Given the description of an element on the screen output the (x, y) to click on. 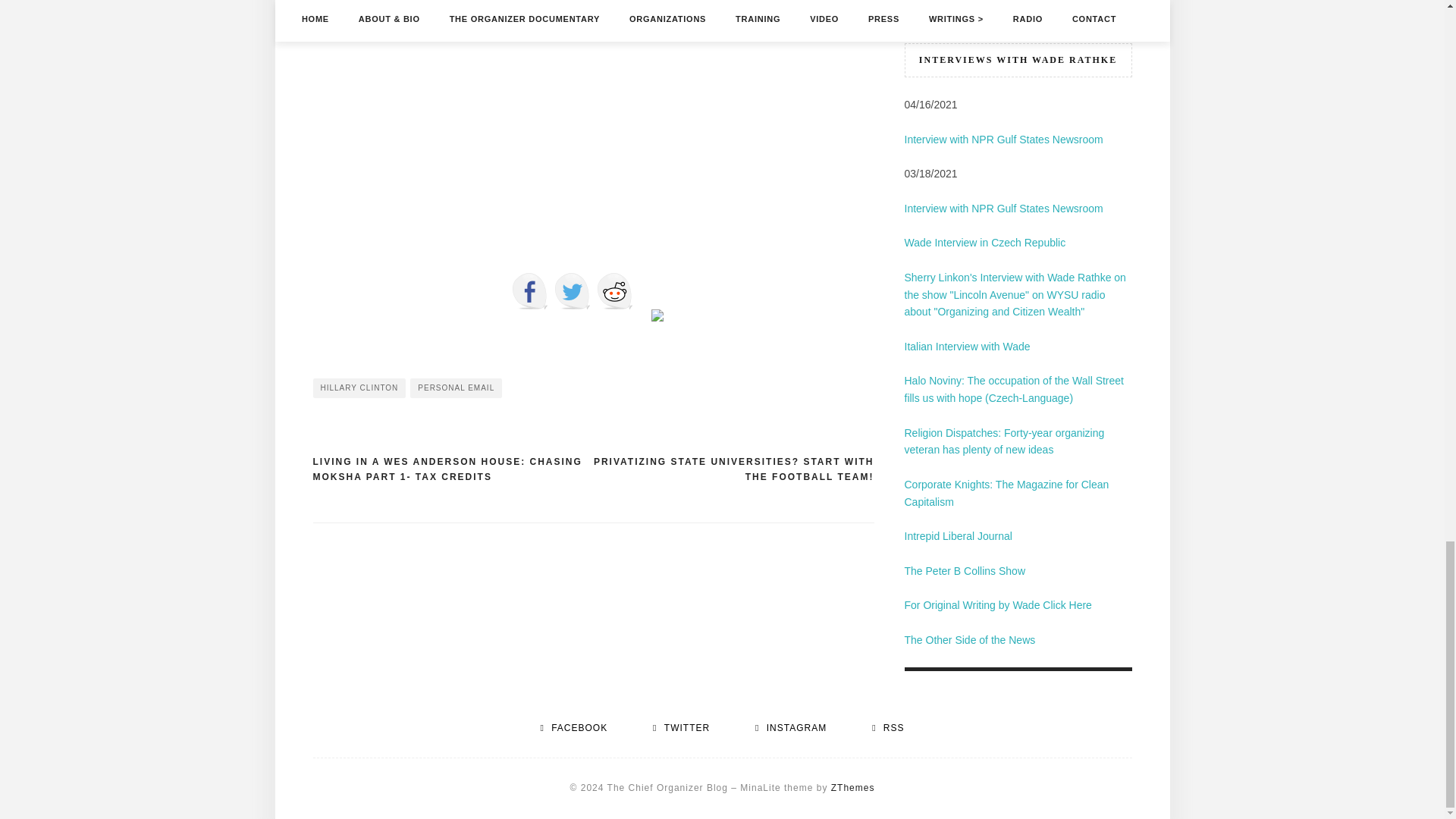
Share on LinkedIn (657, 327)
HILLARY CLINTON (359, 388)
Share on LinkedIn (656, 315)
PERSONAL EMAIL (456, 388)
Share on Reddit (613, 290)
Share on Twitter (571, 290)
Share on Facebook (529, 290)
